Given the description of an element on the screen output the (x, y) to click on. 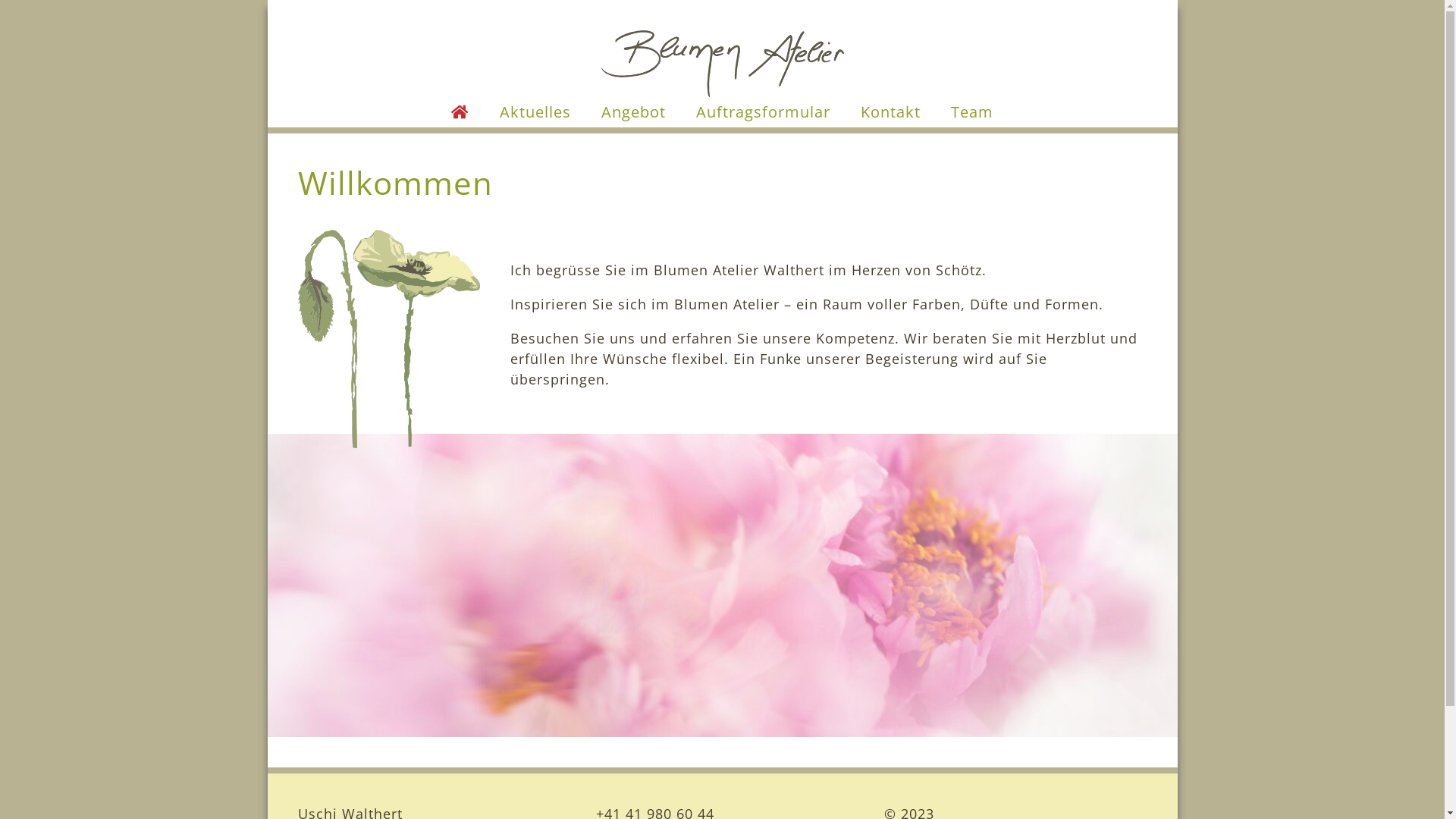
Aktuelles Element type: text (535, 112)
Team Element type: text (971, 112)
Angebot Element type: text (633, 112)
Auftragsformular Element type: text (762, 112)
Startseite-5 Element type: hover (721, 585)
Kontakt Element type: text (890, 112)
